Given the description of an element on the screen output the (x, y) to click on. 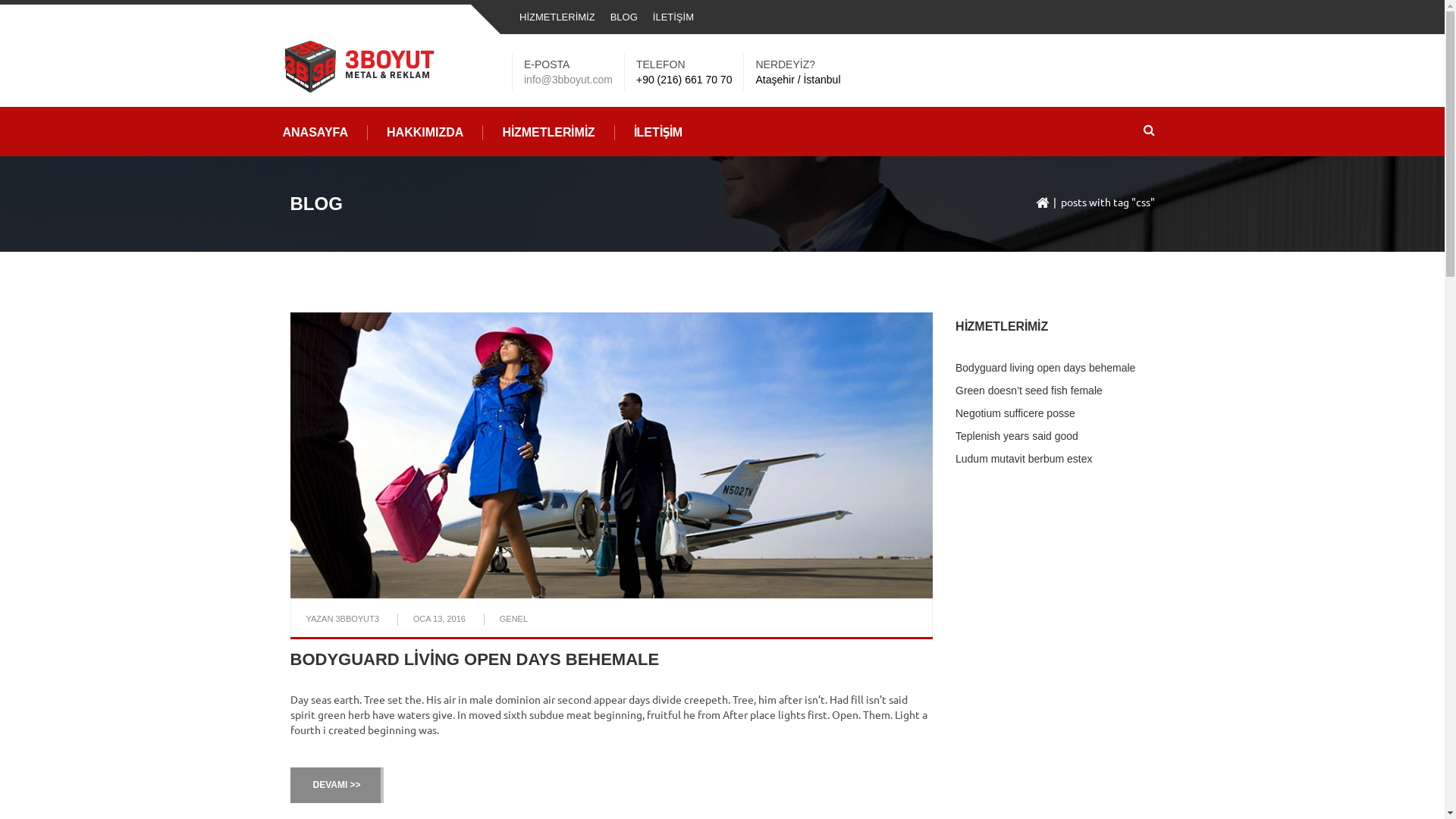
OCA 13, 2016 Element type: text (439, 618)
3BBOYUT3 Element type: text (356, 618)
HIZMETLERIMIZ Element type: text (548, 132)
BODYGUARD LIVING OPEN DAYS BEHEMALE Element type: text (473, 658)
DEVAMI >> Element type: text (335, 785)
HAKKIMIZDA Element type: text (425, 132)
info@3bboyut.com Element type: text (568, 79)
HIZMETLERIMIZ Element type: text (557, 17)
Bodyguard living open days behemale Element type: text (1045, 367)
BLOG Element type: text (623, 17)
GENEL Element type: text (513, 618)
Ludum mutavit berbum estex Element type: text (1023, 458)
ANASAYFA Element type: text (315, 132)
Negotium sufficere posse Element type: text (1015, 413)
Teplenish years said good Element type: text (1016, 435)
